Given the description of an element on the screen output the (x, y) to click on. 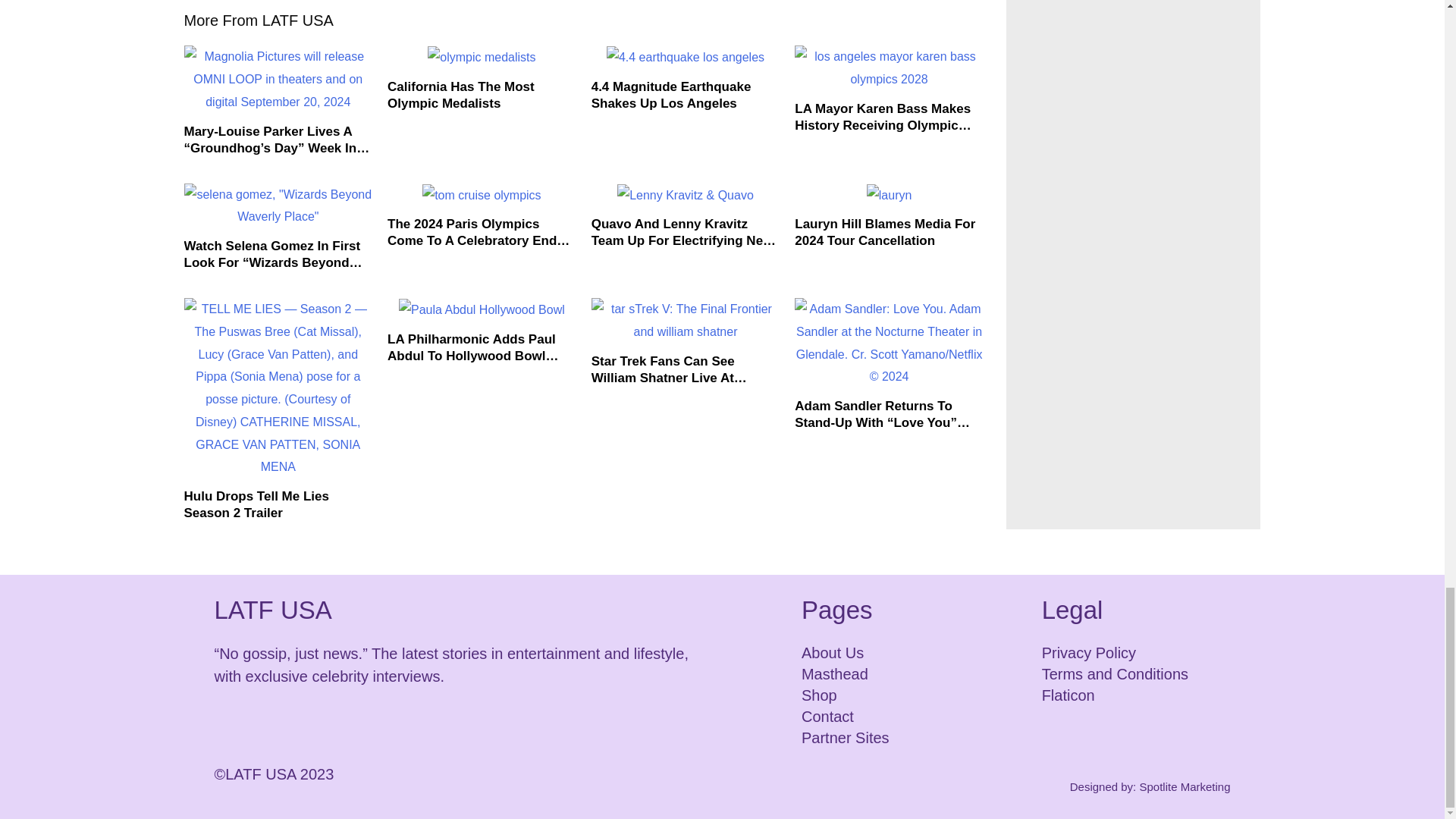
lauryn (889, 195)
TELL ME LIES (277, 388)
los angeles mayor karen bass olympics 2028 (889, 67)
adam sandler stand up comedy (889, 343)
Paula Abdul Hollywood Bowl (481, 309)
4.4 earthquake los angeles (685, 56)
olympic medalists (481, 56)
tar sTrek V: The Final Frontier and william shatner (685, 320)
tom cruise olympics (481, 195)
